Given the description of an element on the screen output the (x, y) to click on. 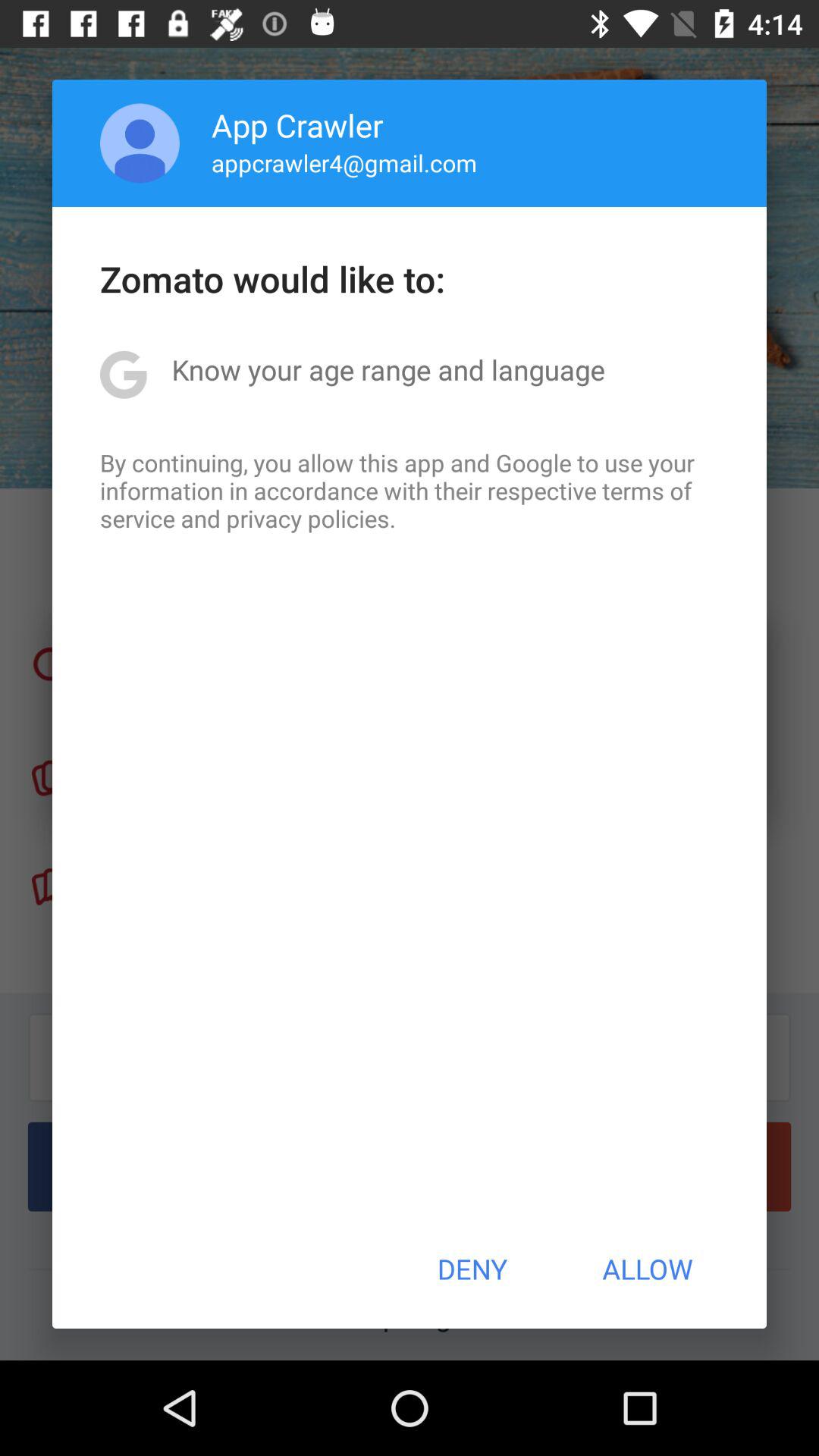
launch deny button (471, 1268)
